Given the description of an element on the screen output the (x, y) to click on. 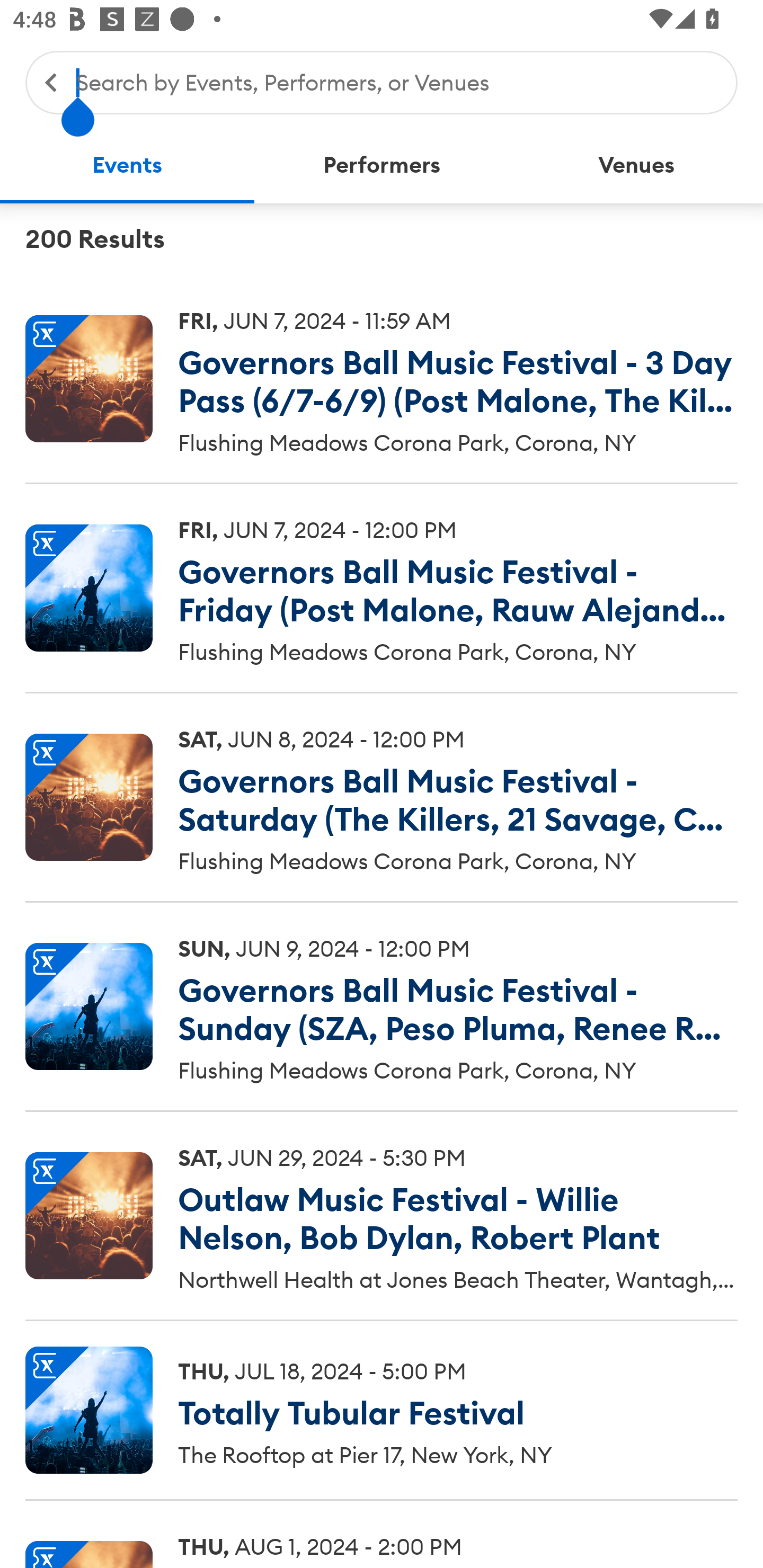
Performers (381, 165)
Venues (635, 165)
